Given the description of an element on the screen output the (x, y) to click on. 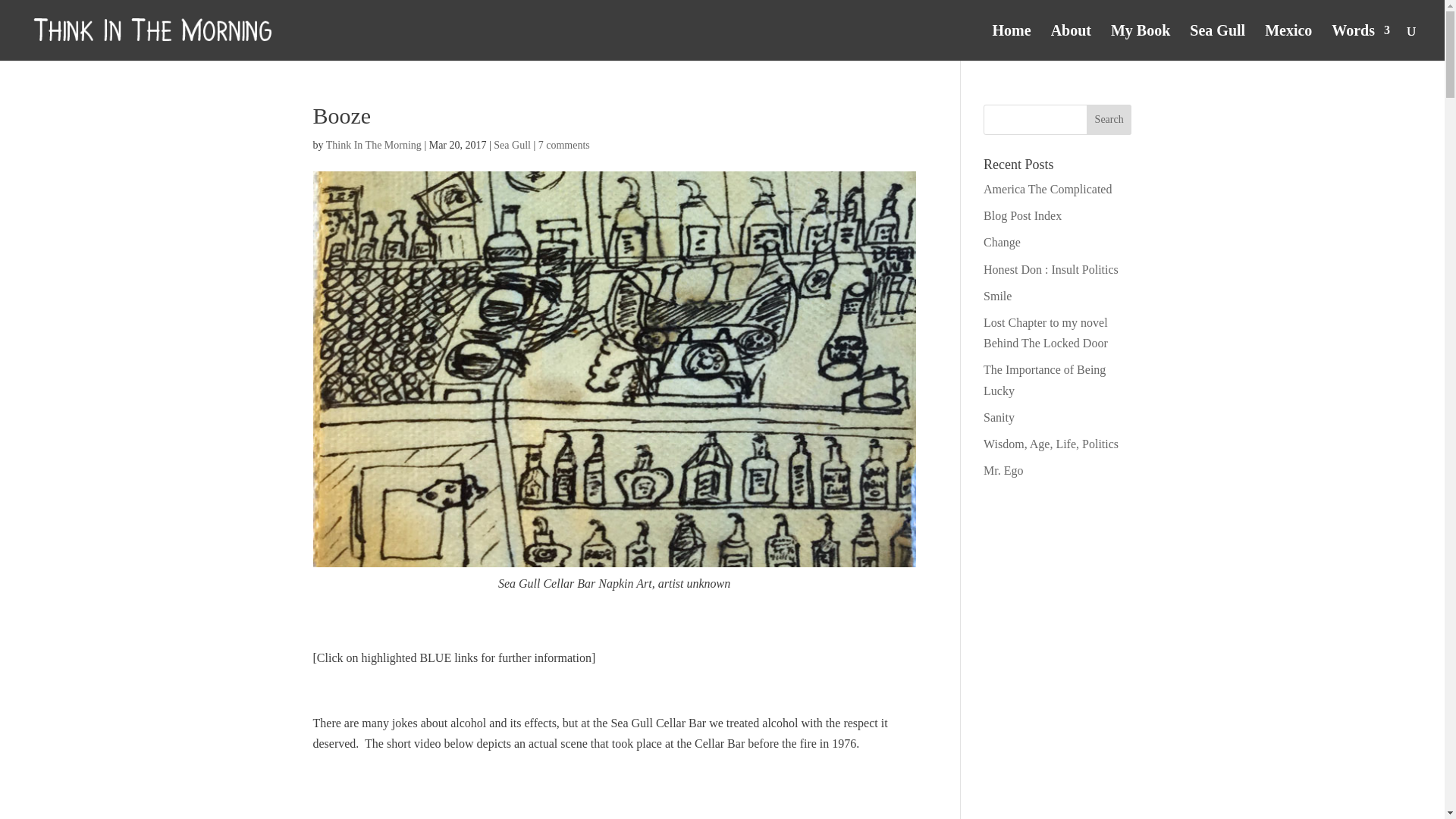
About (1070, 42)
Posts by Think In The Morning (374, 144)
Home (1011, 42)
Sanity (999, 417)
7 comments (563, 144)
Search (1109, 119)
Sea Gull (512, 144)
Change (1002, 241)
Blog Post Index (1022, 215)
Honest Don : Insult Politics (1051, 269)
